Given the description of an element on the screen output the (x, y) to click on. 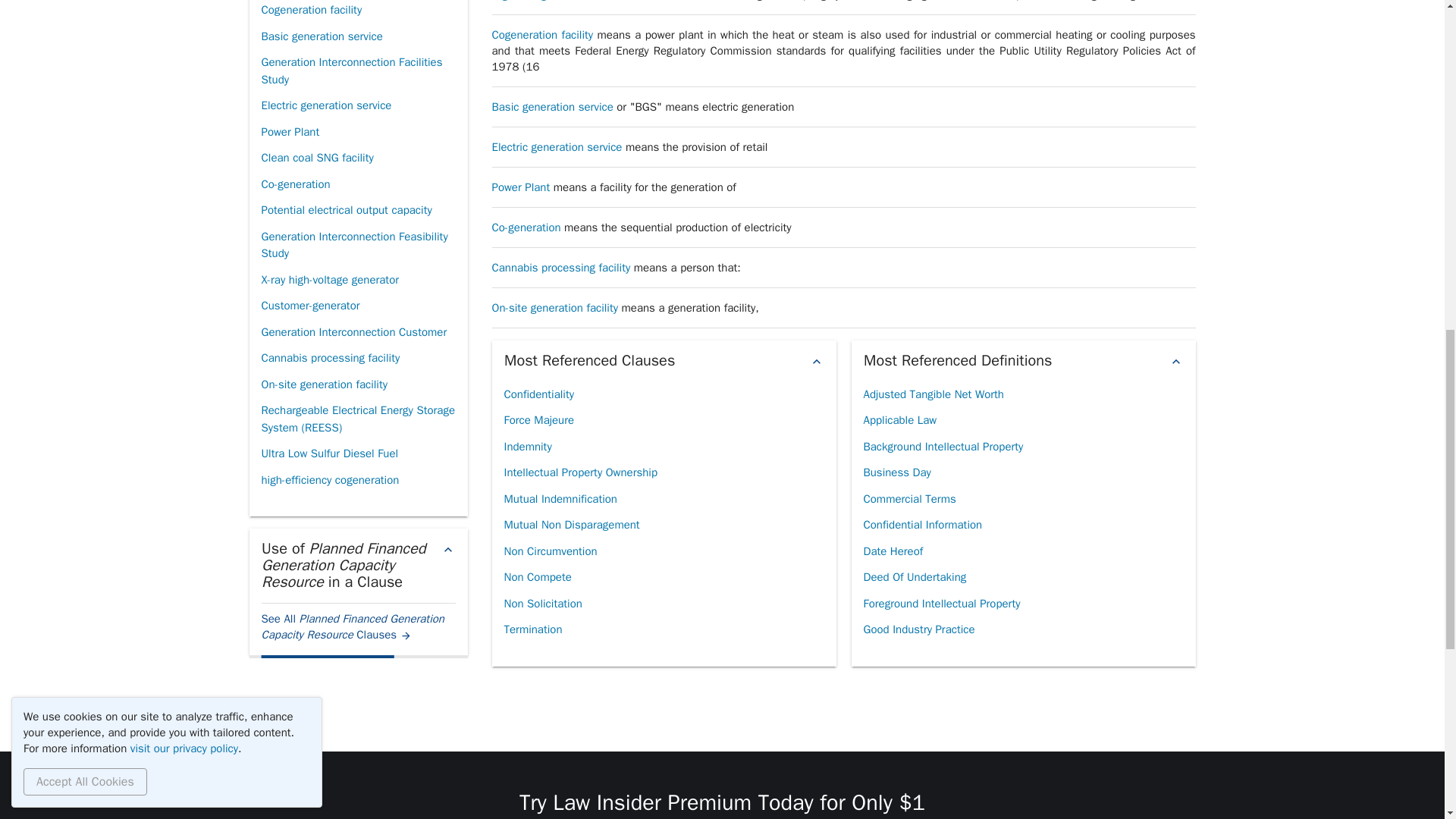
Potential electrical output capacity (345, 210)
Power Plant (289, 131)
Clean coal SNG facility (316, 157)
Co-generation (295, 184)
Electric generation service (325, 105)
Generation Interconnection Feasibility Study (357, 244)
Cogeneration facility (310, 11)
Generation Interconnection Facilities Study (357, 70)
Basic generation service (320, 36)
